Given the description of an element on the screen output the (x, y) to click on. 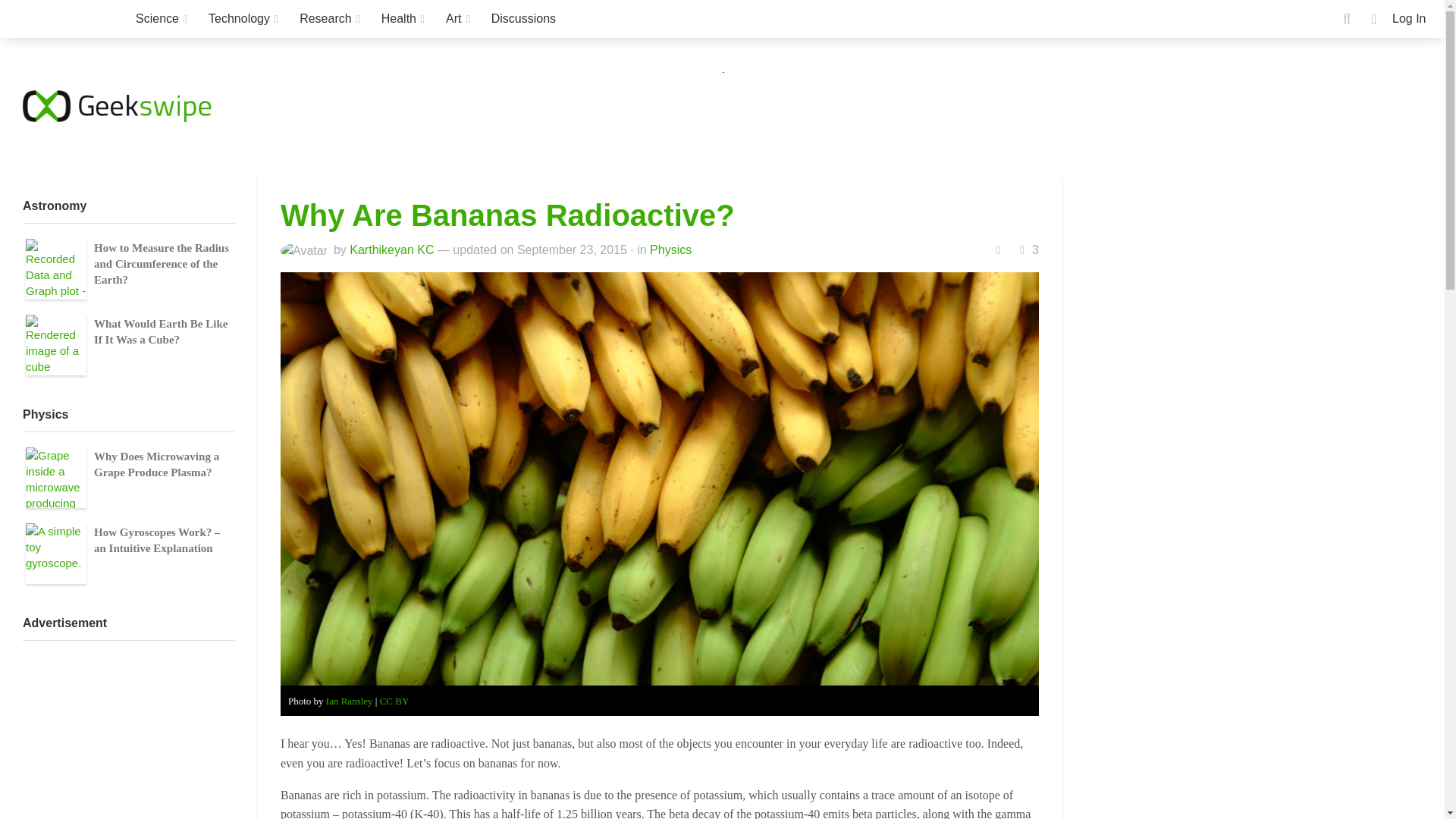
3 (1027, 249)
Advertisement (788, 106)
Posts by Karthikeyan KC (391, 249)
CC BY (394, 700)
Art (457, 18)
Physics (670, 249)
Ian Ransley (349, 700)
What Would Earth Be Like If It Was a Cube? (55, 344)
How to Measure the Radius and Circumference of the Earth? (55, 269)
Science (161, 18)
